Given the description of an element on the screen output the (x, y) to click on. 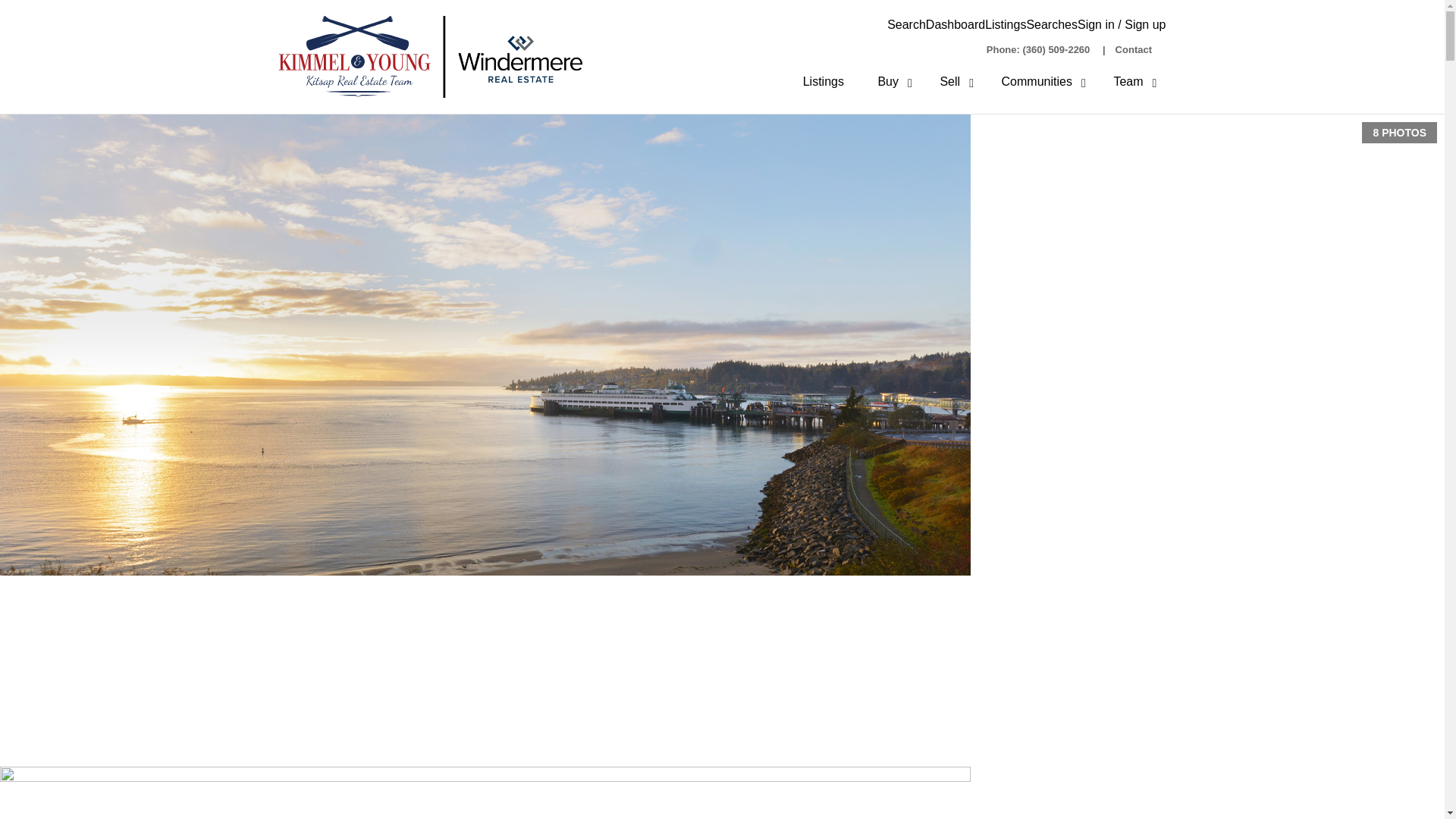
Buy (879, 81)
Skip to main content (7, 7)
Contact (1132, 50)
Team (1119, 81)
Search (906, 24)
Listings (823, 81)
Communities (1029, 81)
Dashboard (955, 24)
Kimmel and Young Windermere Real Estate (430, 56)
Sell (941, 81)
